Given the description of an element on the screen output the (x, y) to click on. 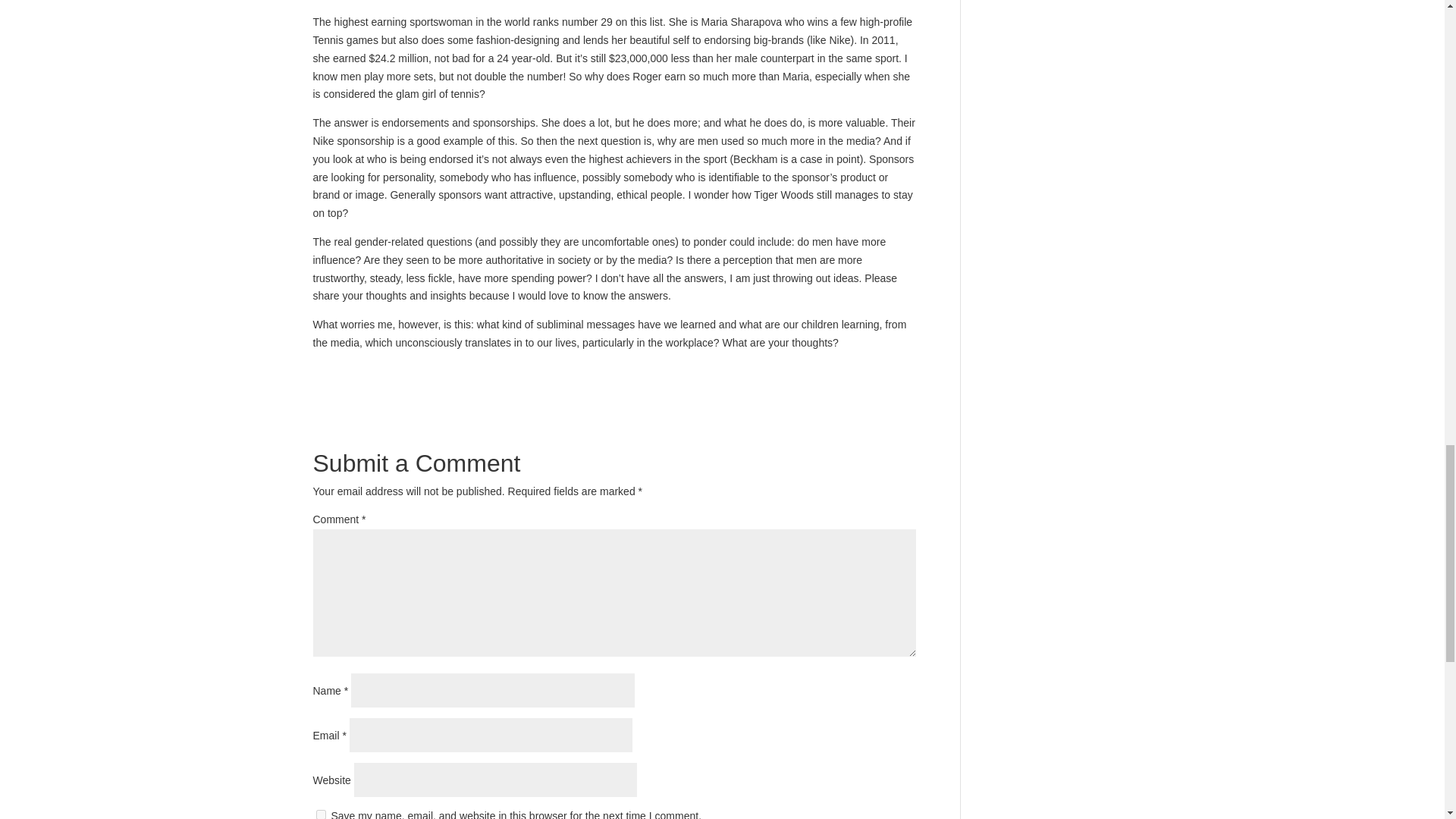
yes (319, 814)
